Given the description of an element on the screen output the (x, y) to click on. 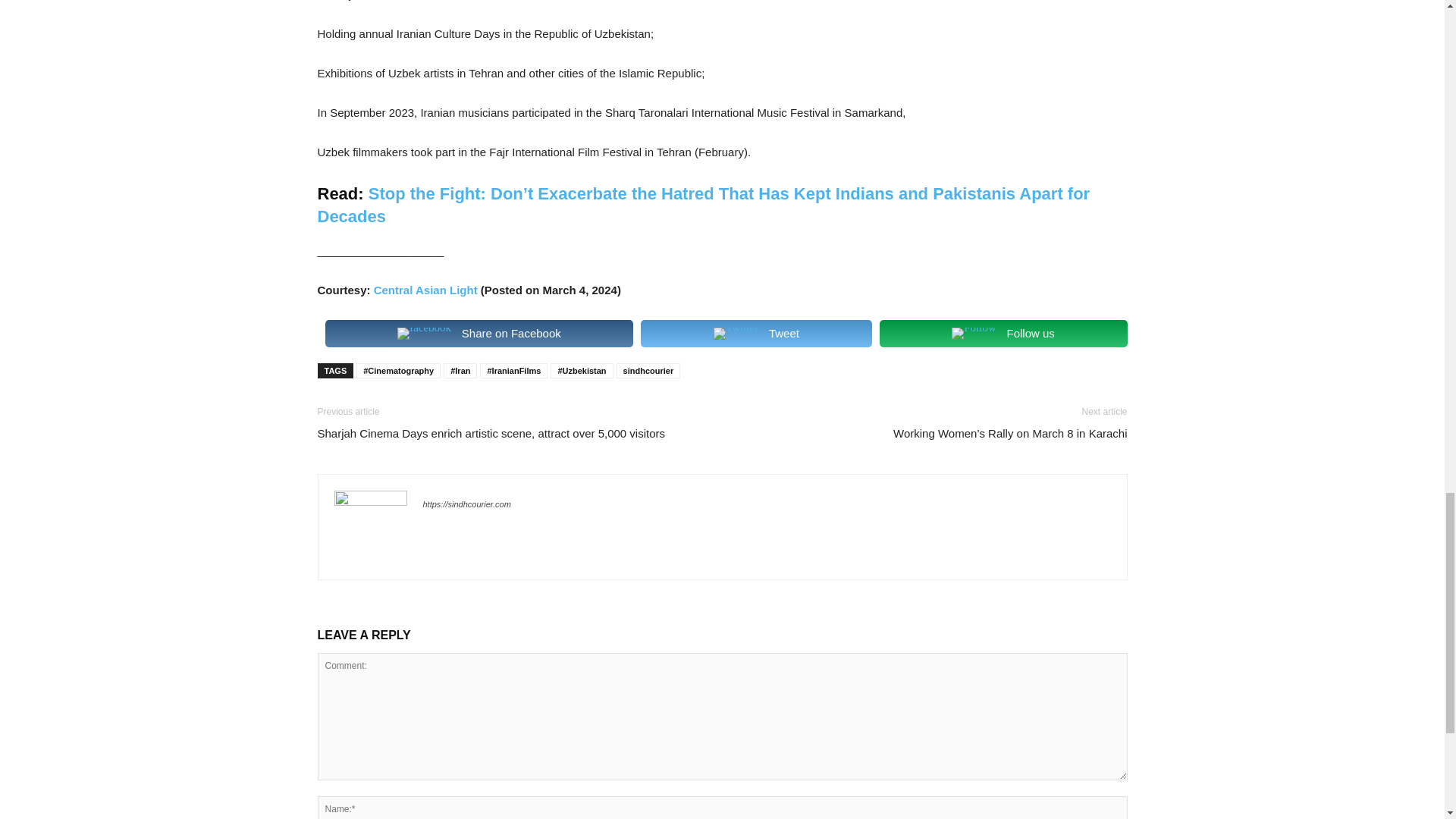
Central Asian Light (425, 289)
Follow us (1002, 333)
Share on Facebook (478, 333)
Tweet (755, 333)
